Given the description of an element on the screen output the (x, y) to click on. 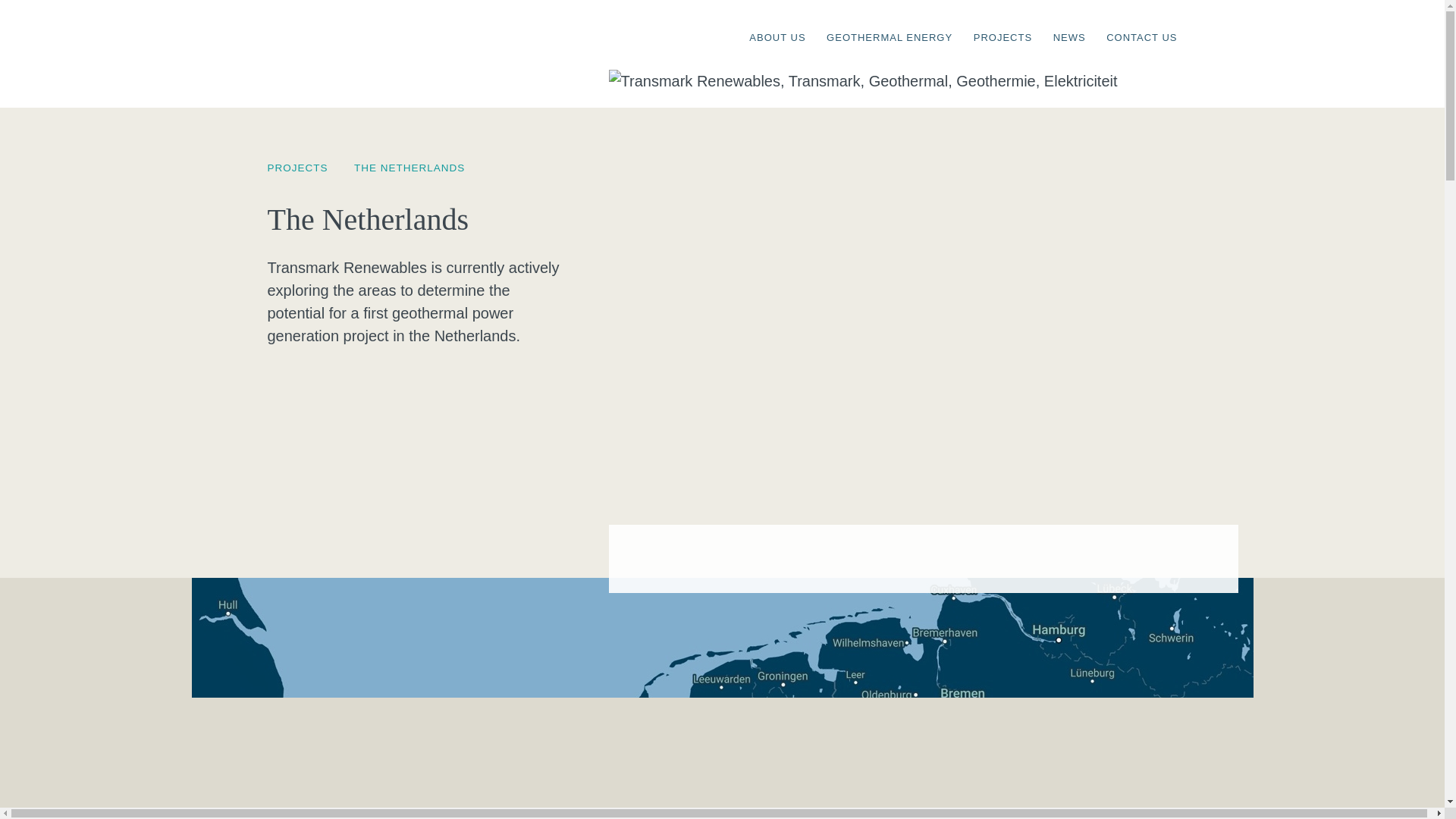
Our licenses and operations (1003, 22)
View all our projects (308, 167)
PROJECTS (308, 167)
Return to the Transmark Renewables homepage (399, 33)
CONTACT US (1141, 22)
ABOUT US (777, 22)
An overview of Geothermal Energy (889, 22)
THE NETHERLANDS (408, 167)
PROJECTS (1003, 22)
GEOTHERMAL ENERGY (889, 22)
Contact information for Transmark Renewables (1141, 22)
About Transmark Renewables (777, 22)
Return to the Transmark Renwables homepage (399, 33)
